Given the description of an element on the screen output the (x, y) to click on. 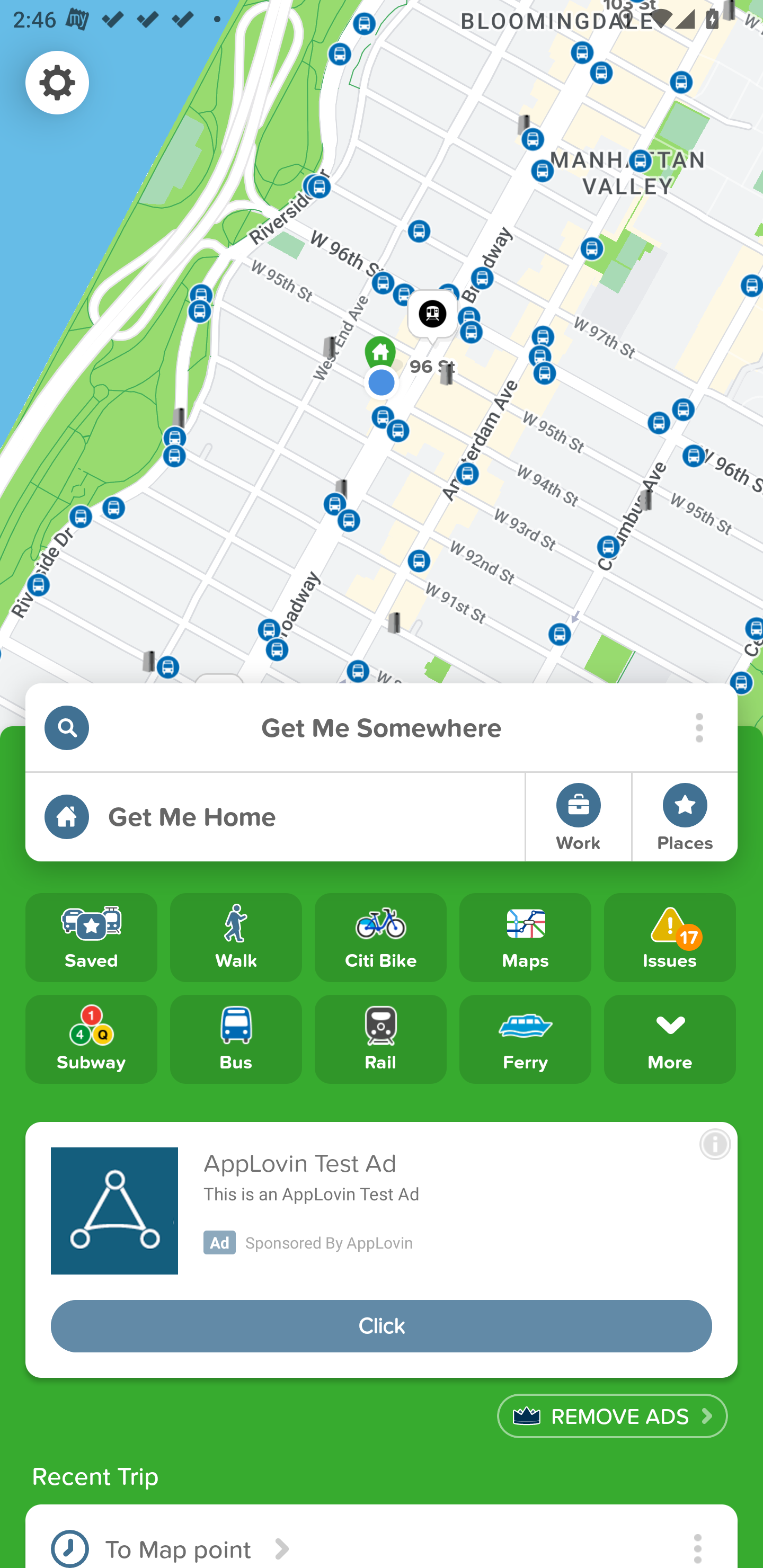
Saved (91, 937)
